Given the description of an element on the screen output the (x, y) to click on. 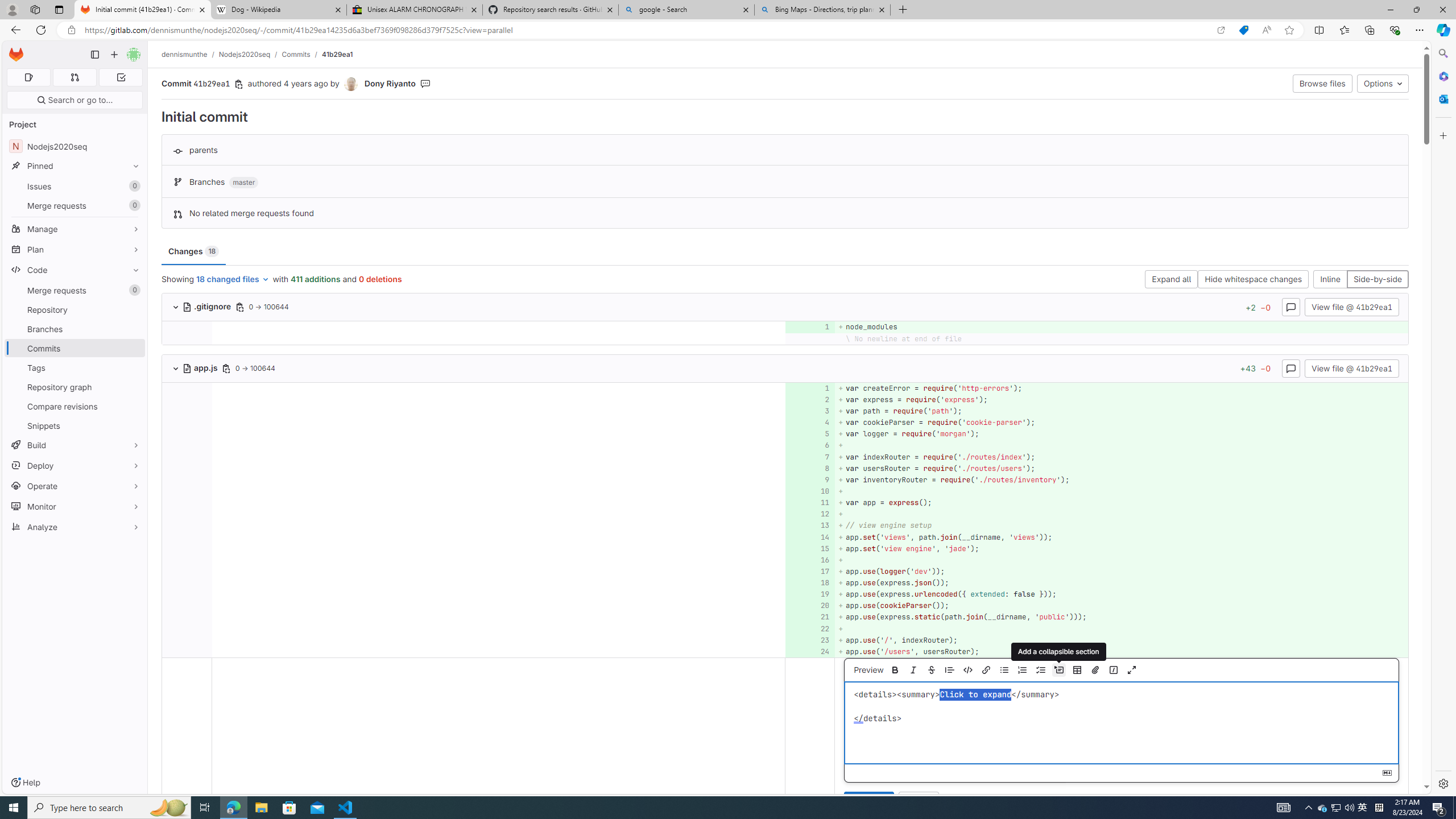
Merge requests 0 (74, 289)
Inline (1329, 279)
+ var indexRouter = require('./routes/index');  (1120, 456)
Go full screen (1131, 670)
Add a collapsible section (1058, 651)
Issues0 (74, 185)
Add a comment to this line 20 (809, 605)
20 (808, 605)
Hide whitespace changes (1253, 279)
Primary navigation sidebar (94, 54)
18 (808, 582)
Issues 0 (74, 185)
Add a collapsible section (1058, 670)
Compare revisions (74, 406)
